Given the description of an element on the screen output the (x, y) to click on. 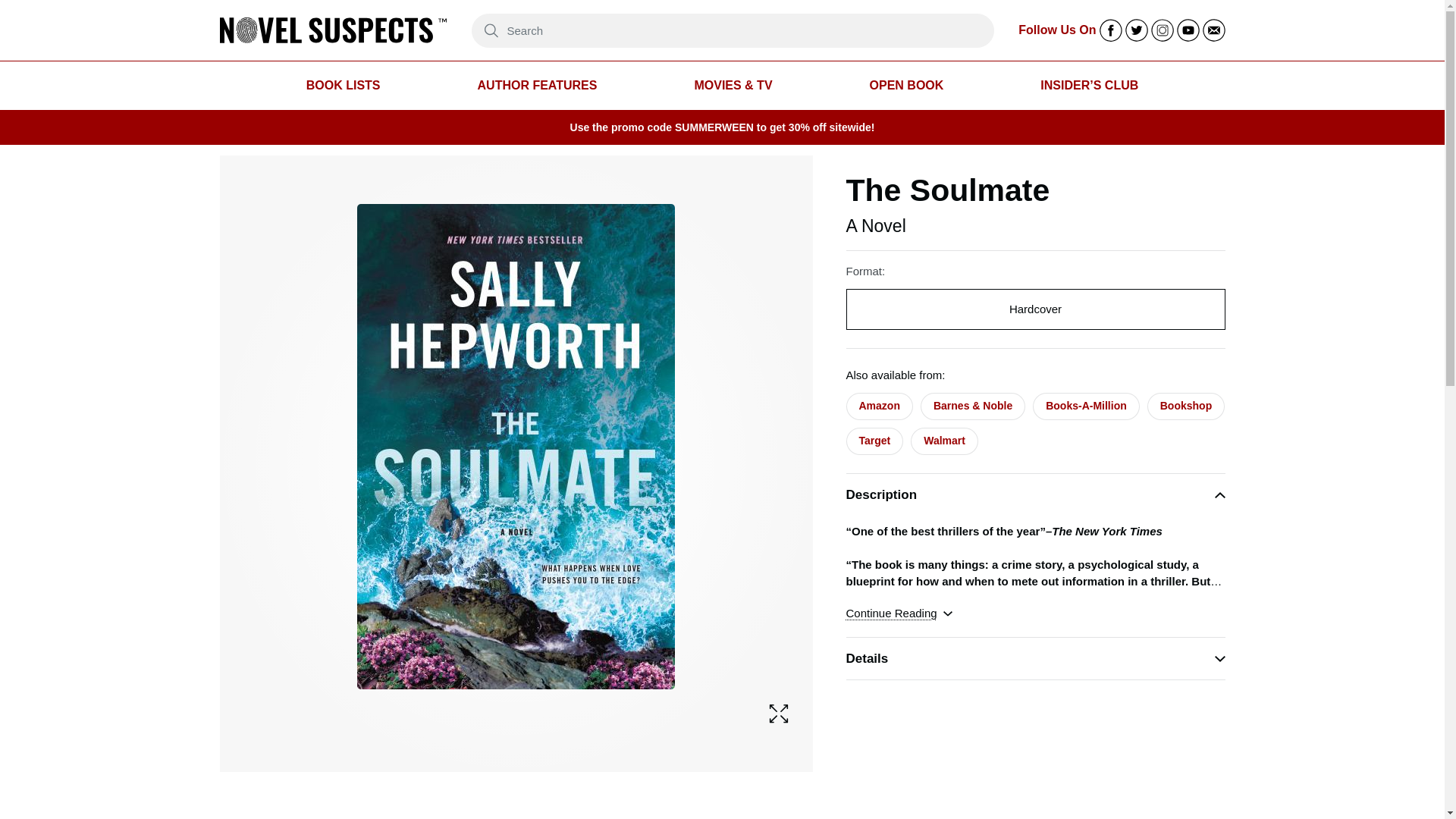
BOOK LISTS (342, 85)
Go to Hachette Book Group home (332, 30)
Target (874, 441)
Walmart (944, 441)
Amazon (878, 406)
Bookshop (1185, 406)
Continue Reading (898, 613)
Books-A-Million (1086, 406)
Open the full-size image (778, 713)
Details (1035, 658)
